Given the description of an element on the screen output the (x, y) to click on. 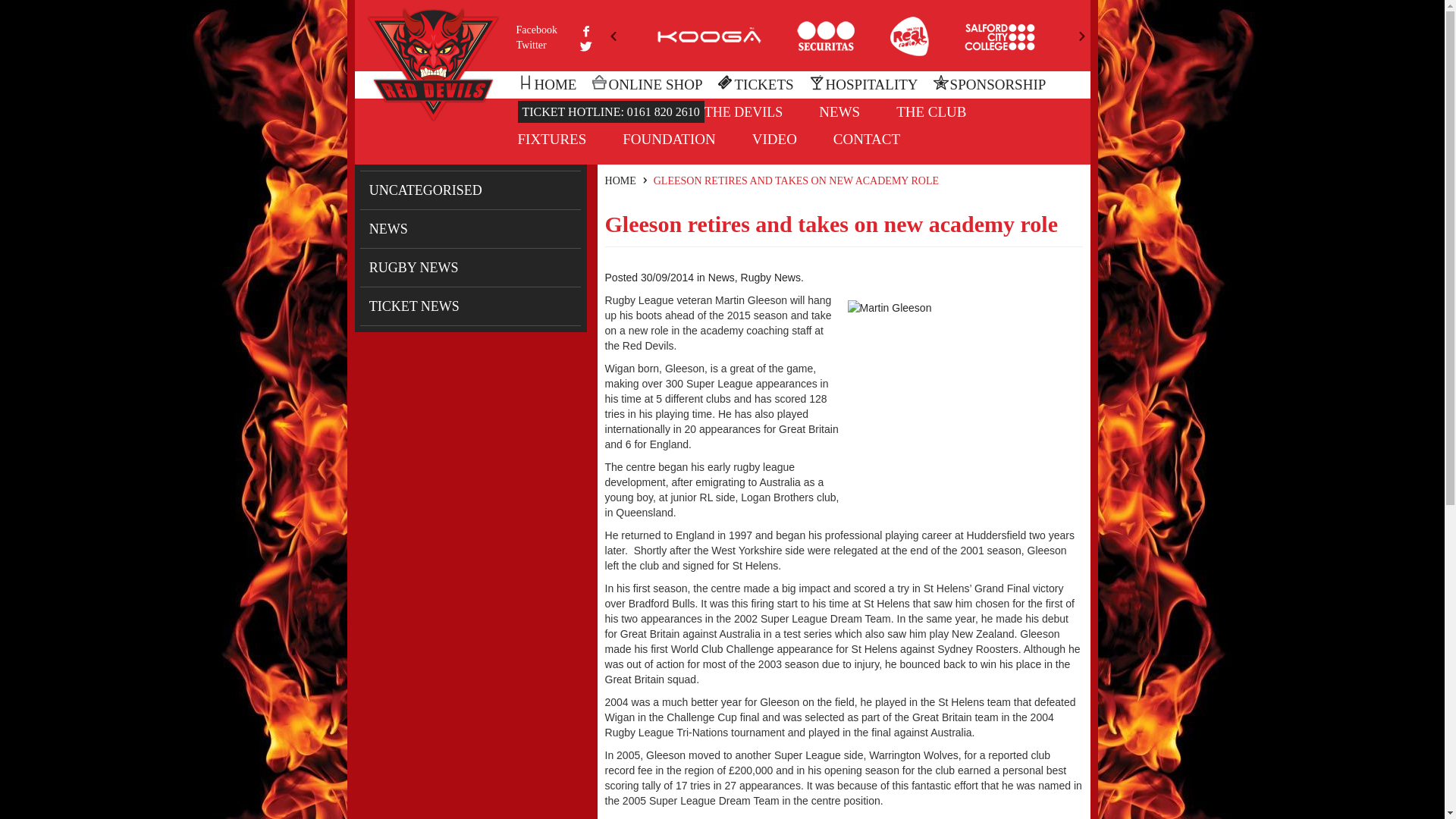
join the red devils on facebook (553, 29)
HOME (620, 180)
NEWS (839, 111)
VIDEO (774, 139)
TICKETS (755, 84)
get your tickets today (755, 84)
get your tickets today (609, 111)
visit the red devils online shop (646, 84)
View all posts filed under Ticket News (469, 306)
Salford Red Devils (433, 63)
